Given the description of an element on the screen output the (x, y) to click on. 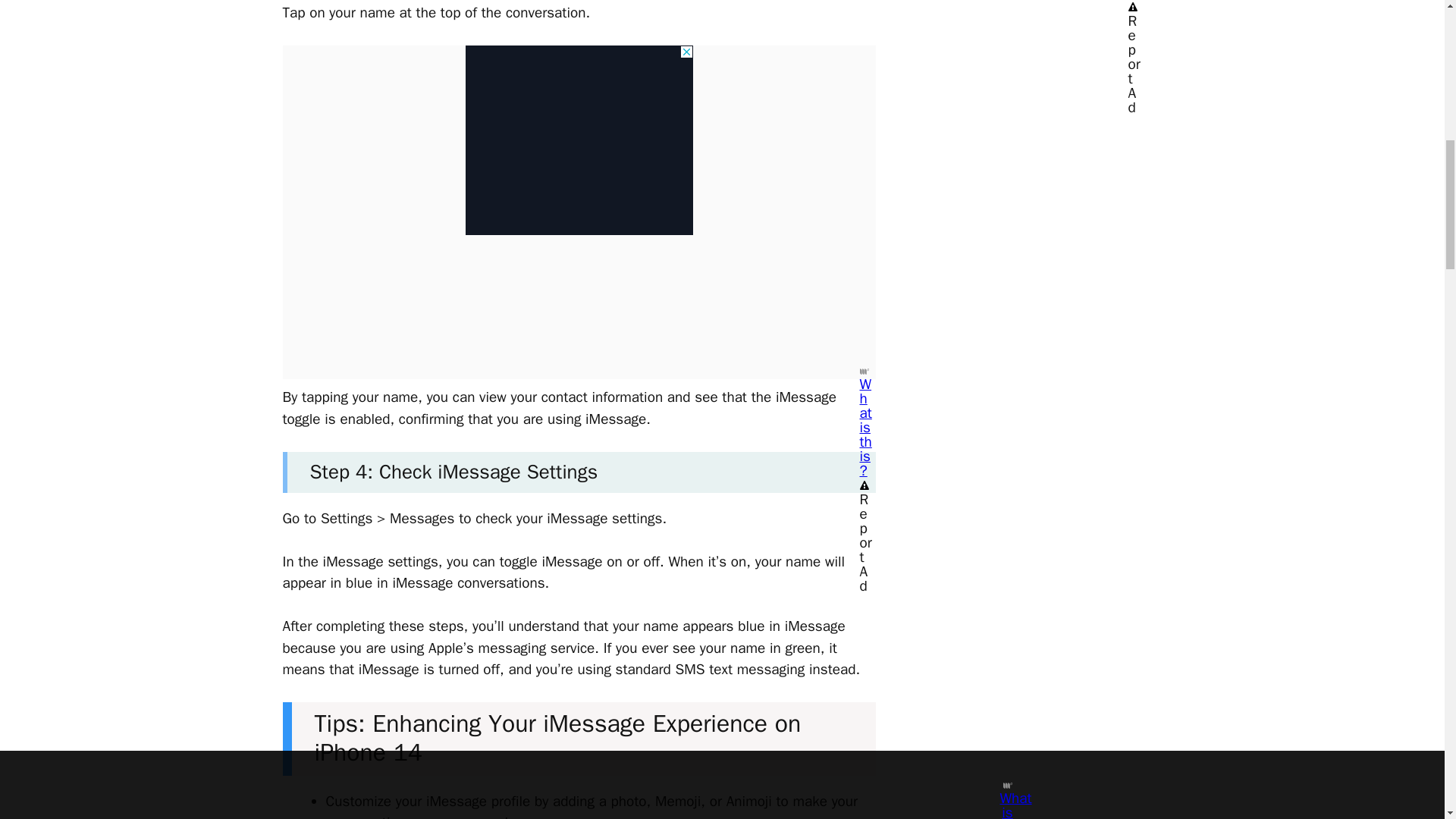
3rd party ad content (579, 140)
